Given the description of an element on the screen output the (x, y) to click on. 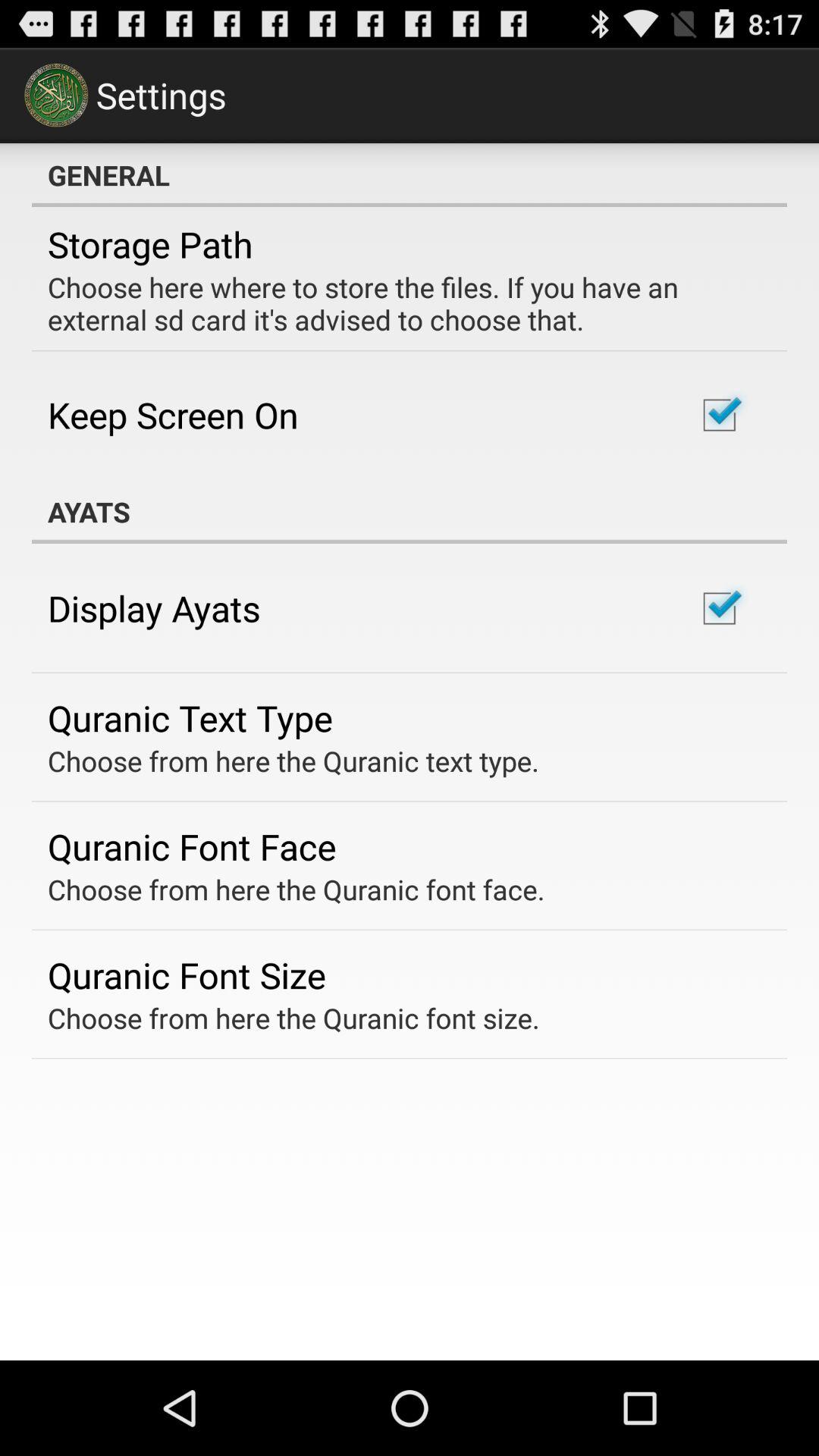
flip to the display ayats app (153, 608)
